Given the description of an element on the screen output the (x, y) to click on. 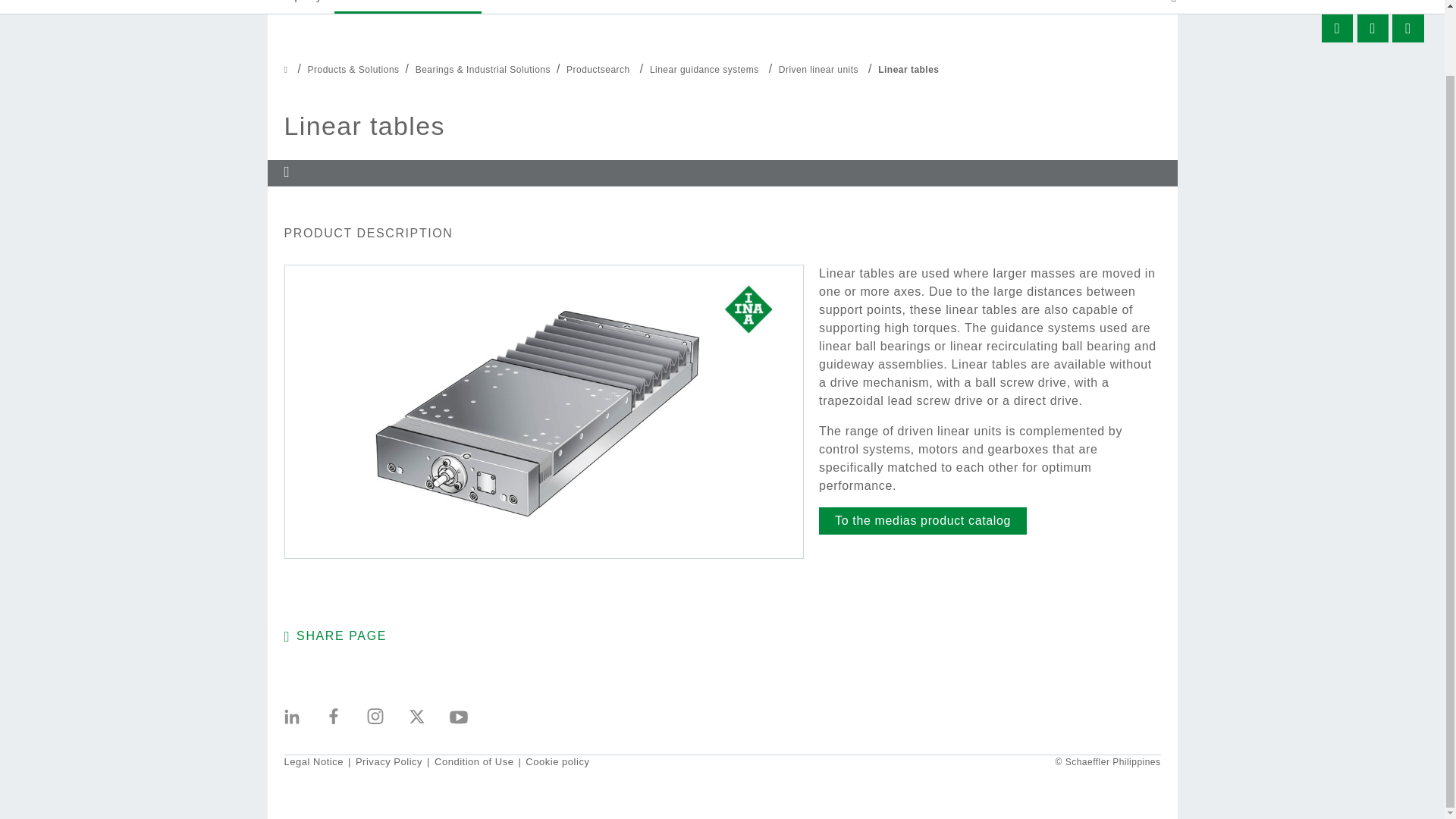
Cookie policy  (557, 761)
Condition of Use (473, 761)
To the medias product catalog (922, 520)
Company (294, 6)
Legal Notice (313, 761)
Privacy Policy (388, 761)
